Given the description of an element on the screen output the (x, y) to click on. 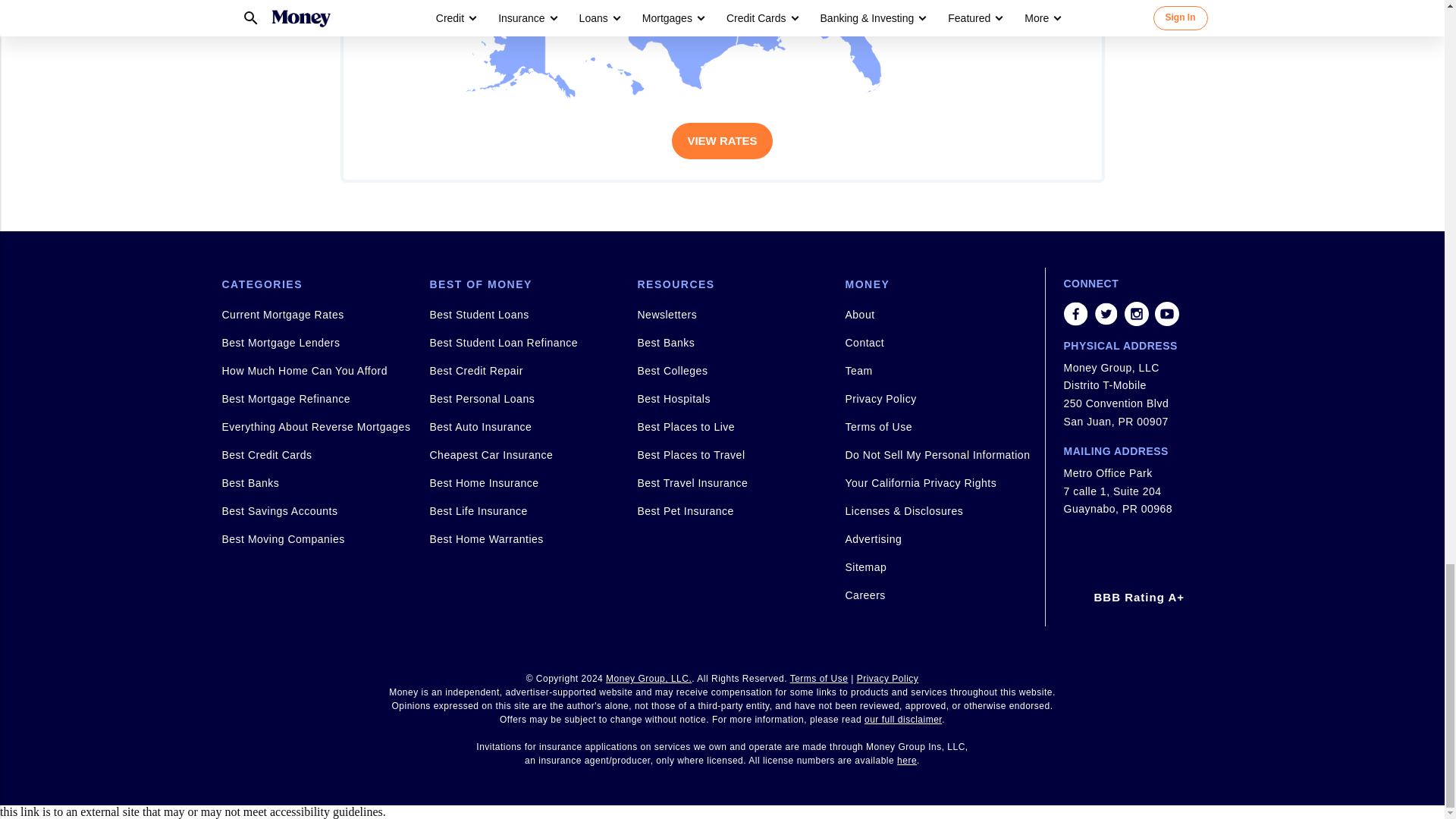
youtube share (1165, 313)
facebook share (1074, 313)
twitter share (717, 49)
instagram share (1105, 313)
